Given the description of an element on the screen output the (x, y) to click on. 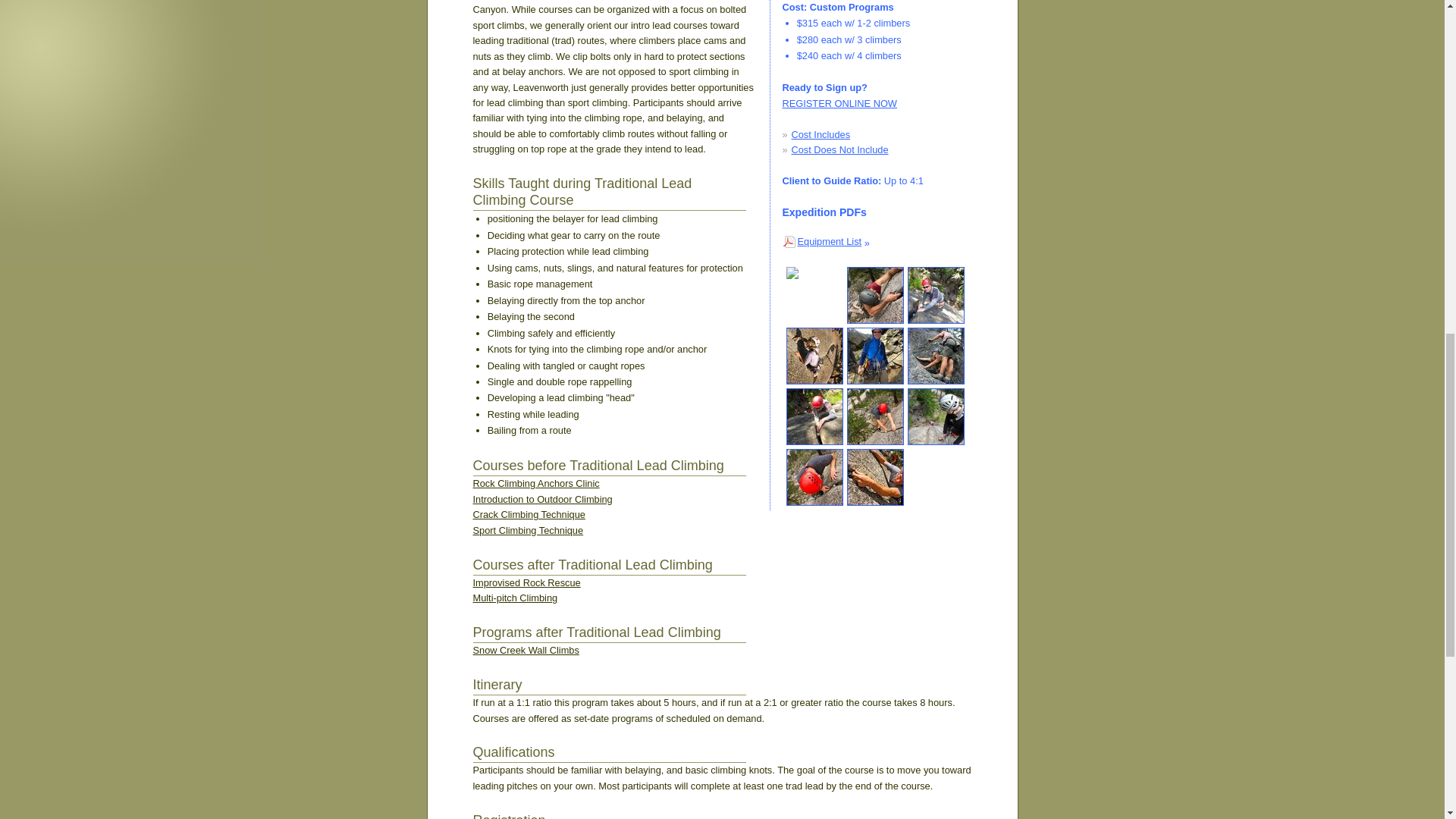
Lead Climbing Course 1 (873, 294)
Trad Lead Climbing Course 1 (873, 355)
Trad Lead Climbing Course 9 (935, 416)
Lead Climbing Course 6 (814, 477)
Lead Climbing Course 4 (935, 355)
Lead Climbing Course 5 (873, 416)
Lead Climbing Course 2 (814, 294)
Lead Climbing Course 3 (814, 355)
Trad Lead Climbing Course 5 (814, 416)
Trad Lead Climbing Course (935, 294)
